Given the description of an element on the screen output the (x, y) to click on. 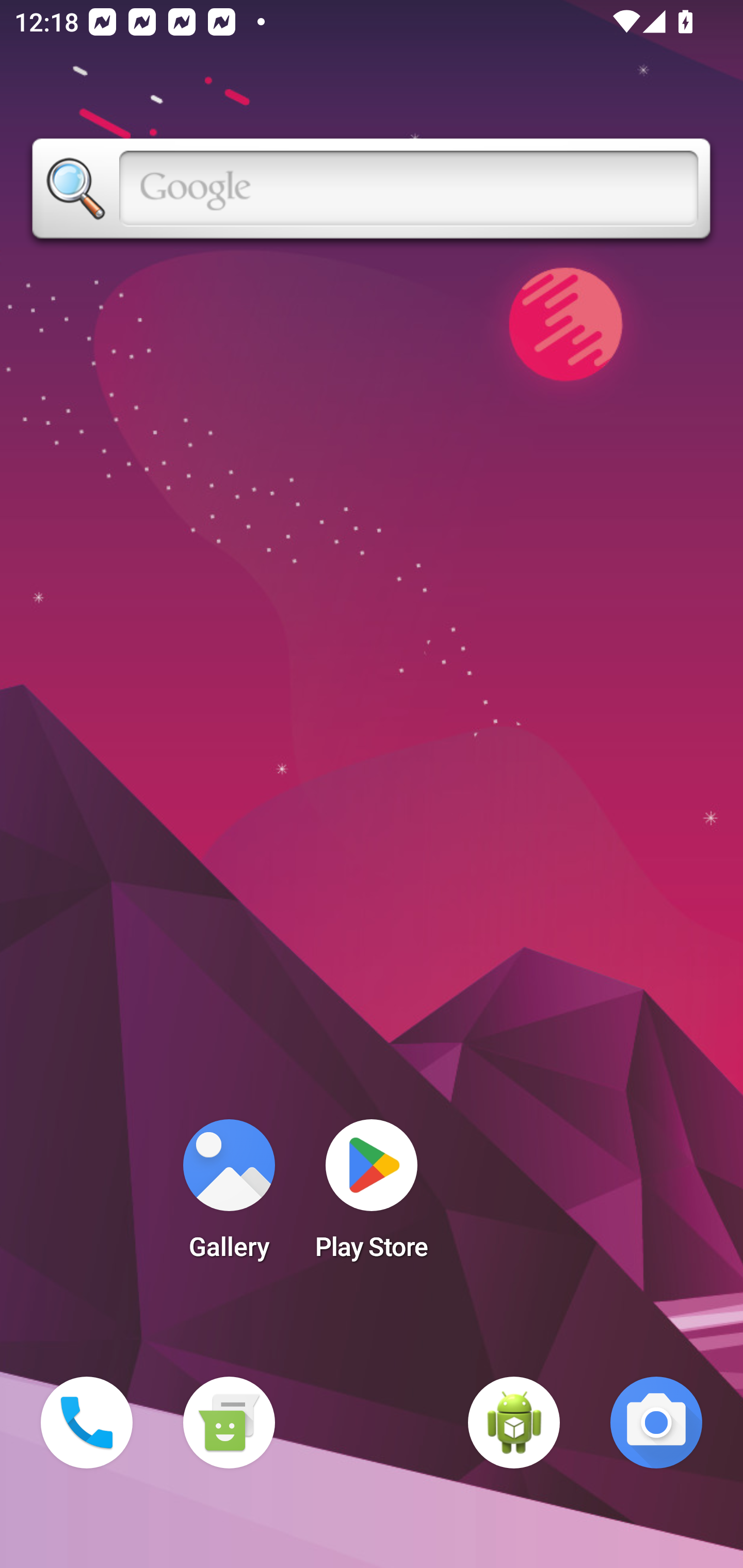
Gallery (228, 1195)
Play Store (371, 1195)
Phone (86, 1422)
Messaging (228, 1422)
WebView Browser Tester (513, 1422)
Camera (656, 1422)
